Given the description of an element on the screen output the (x, y) to click on. 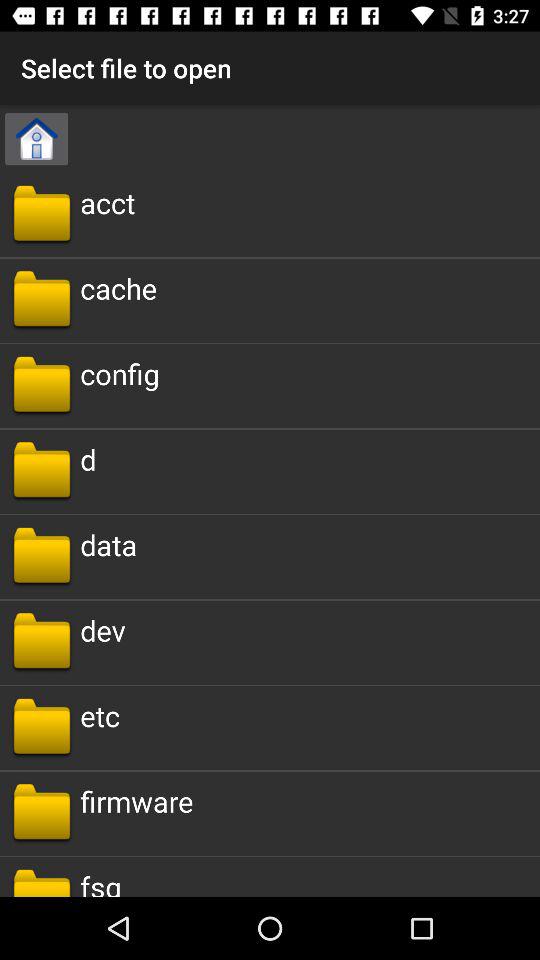
select the folder icon on left to the text cache on the web page (41, 300)
select the 4th folder icon on the top left corner of the web page (41, 471)
click button beside dev (41, 641)
click on the button from from the bottom (41, 881)
